Given the description of an element on the screen output the (x, y) to click on. 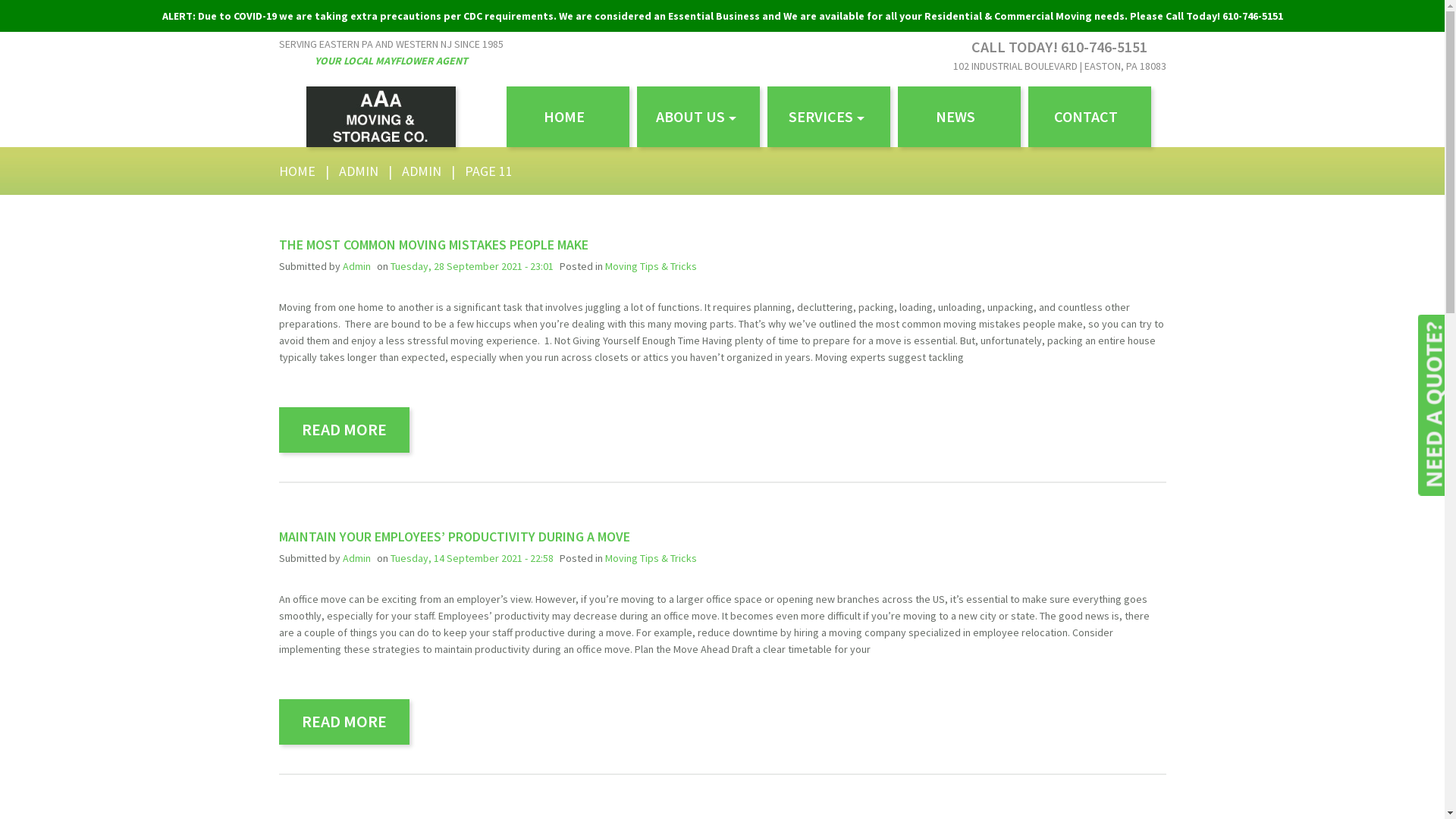
HOME Element type: text (567, 116)
READ MORE Element type: text (344, 429)
HOME Element type: text (297, 170)
THE MOST COMMON MOVING MISTAKES PEOPLE MAKE Element type: text (433, 244)
ABOUT US Element type: text (698, 116)
Moving Tips & Tricks Element type: text (650, 266)
ADMIN Element type: text (357, 170)
SERVICES Element type: text (828, 116)
READ MORE Element type: text (344, 721)
CALL TODAY! 610-746-5151 Element type: text (1059, 46)
Admin Element type: text (356, 557)
Admin Element type: text (356, 266)
NEWS Element type: text (958, 116)
Moving Tips & Tricks Element type: text (650, 557)
CONTACT Element type: text (1089, 116)
